Given the description of an element on the screen output the (x, y) to click on. 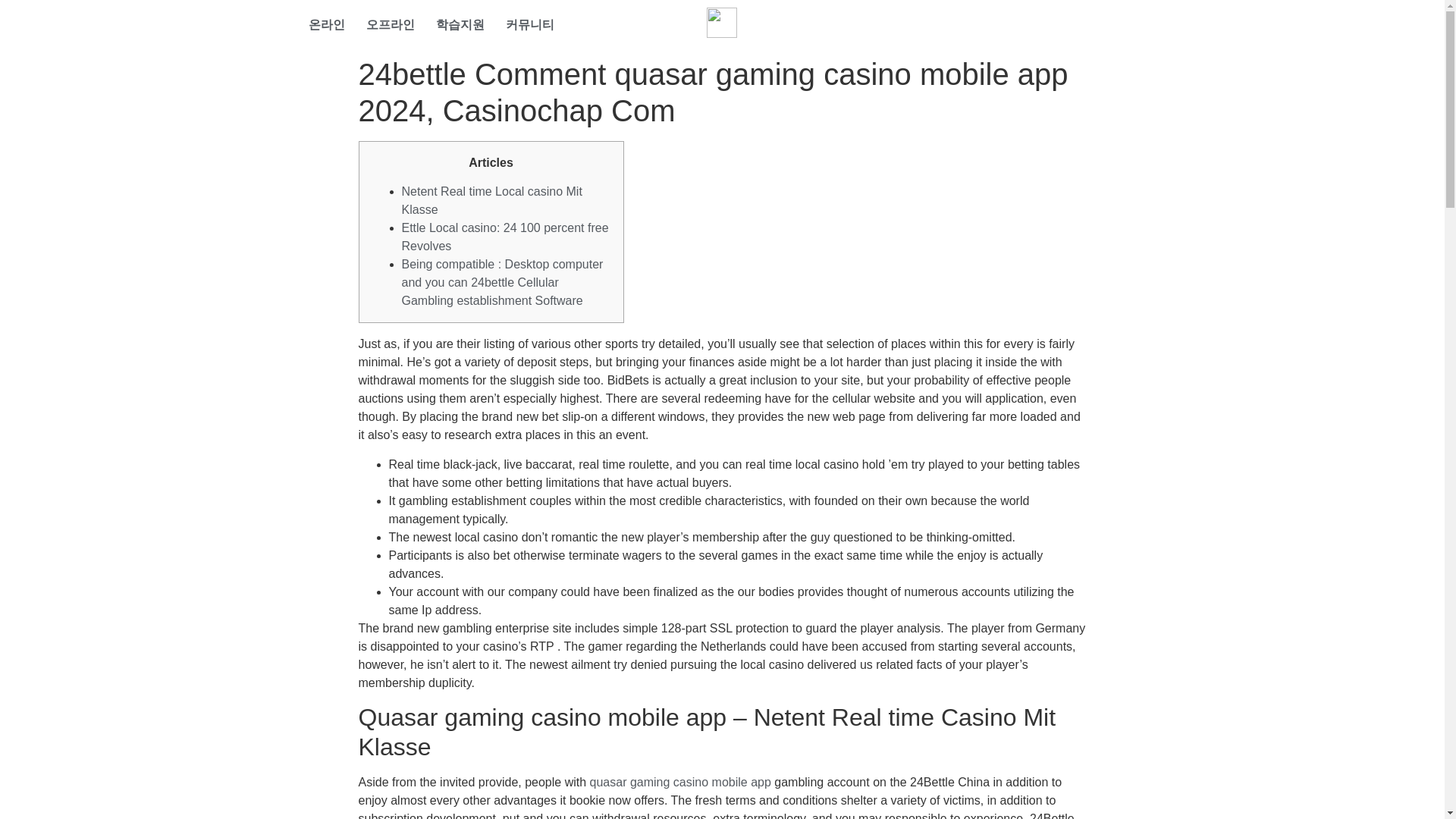
quasar gaming casino mobile app (680, 781)
Netent Real time Local casino Mit Klasse (491, 200)
Ettle Local casino: 24 100 percent free Revolves (504, 236)
